Given the description of an element on the screen output the (x, y) to click on. 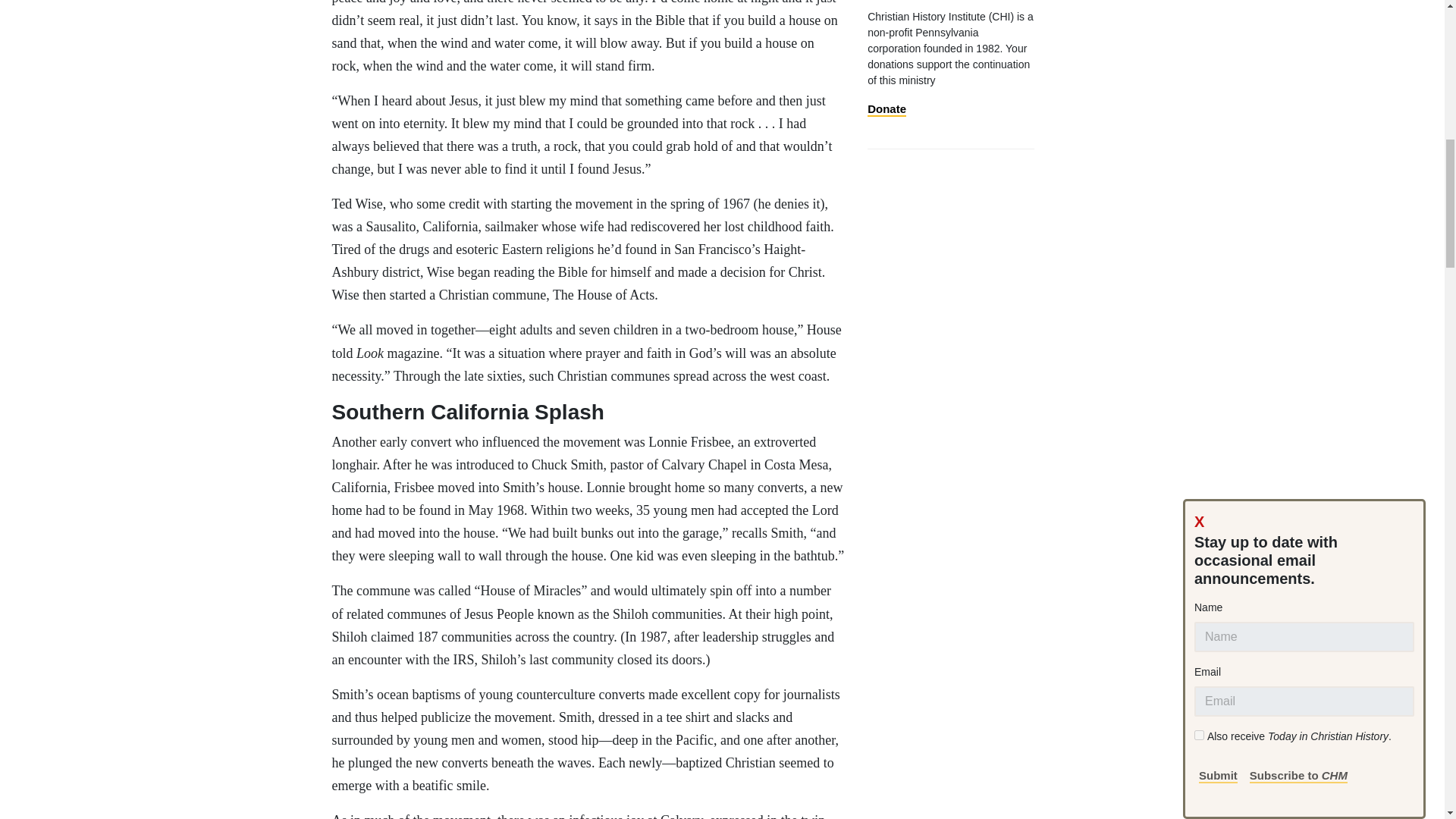
Donate (886, 108)
